Given the description of an element on the screen output the (x, y) to click on. 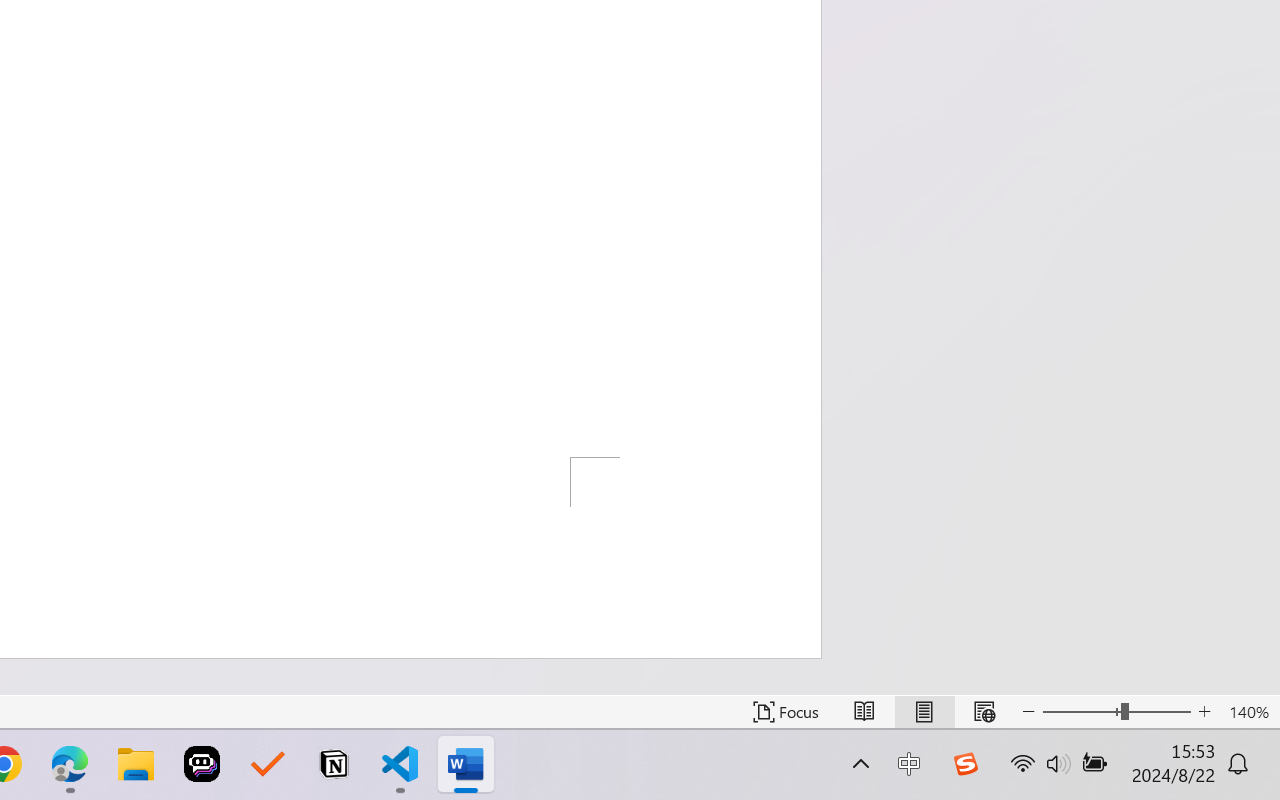
Zoom 140% (1249, 712)
Notion (333, 764)
Web Layout (984, 712)
